Given the description of an element on the screen output the (x, y) to click on. 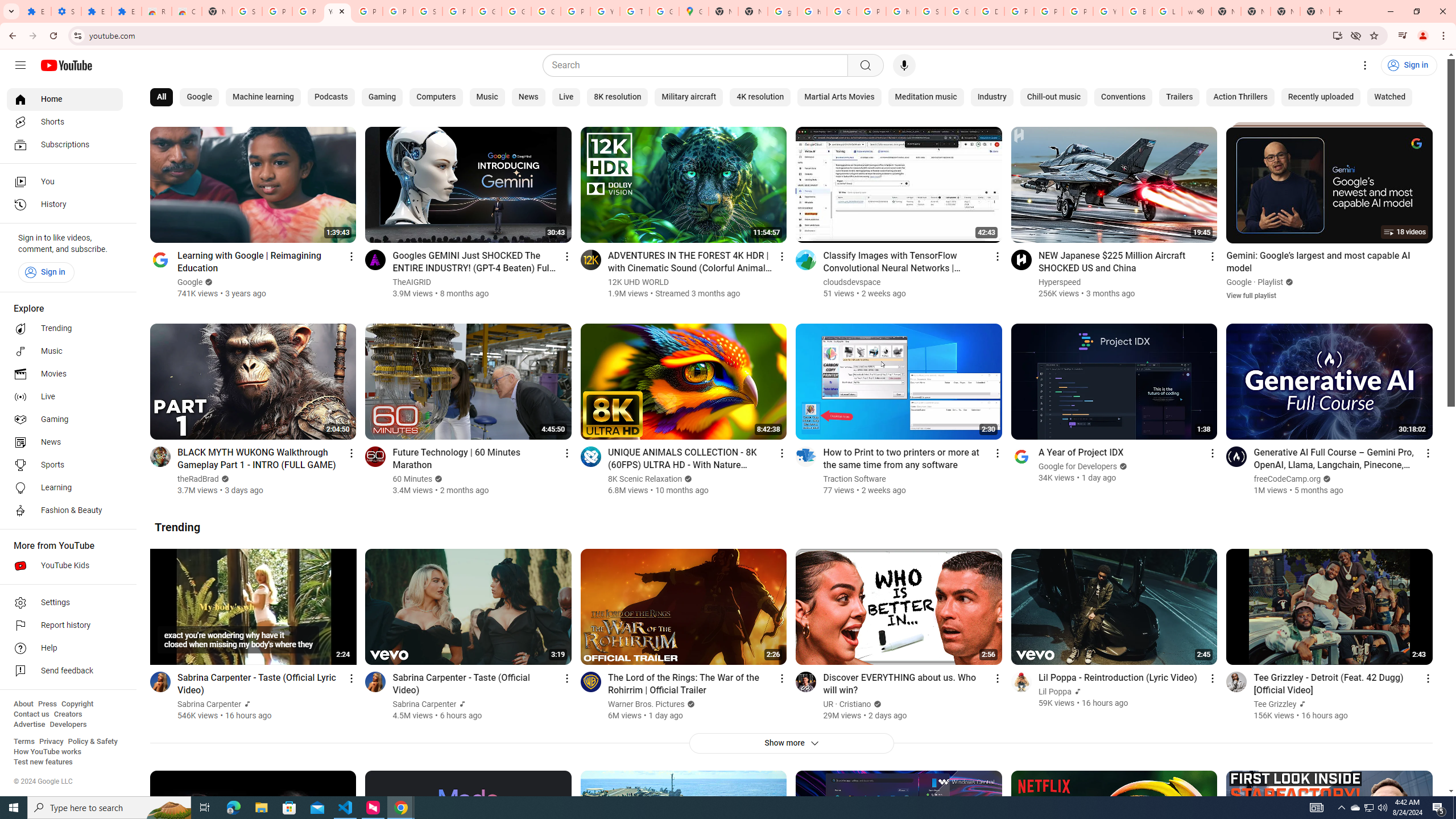
Google (1238, 282)
Gaming (64, 419)
Go to channel (1236, 681)
News (64, 441)
12K UHD WORLD (638, 282)
New Tab (216, 11)
Mute tab (1200, 10)
Privacy (51, 741)
Press (46, 703)
Google (198, 97)
